Given the description of an element on the screen output the (x, y) to click on. 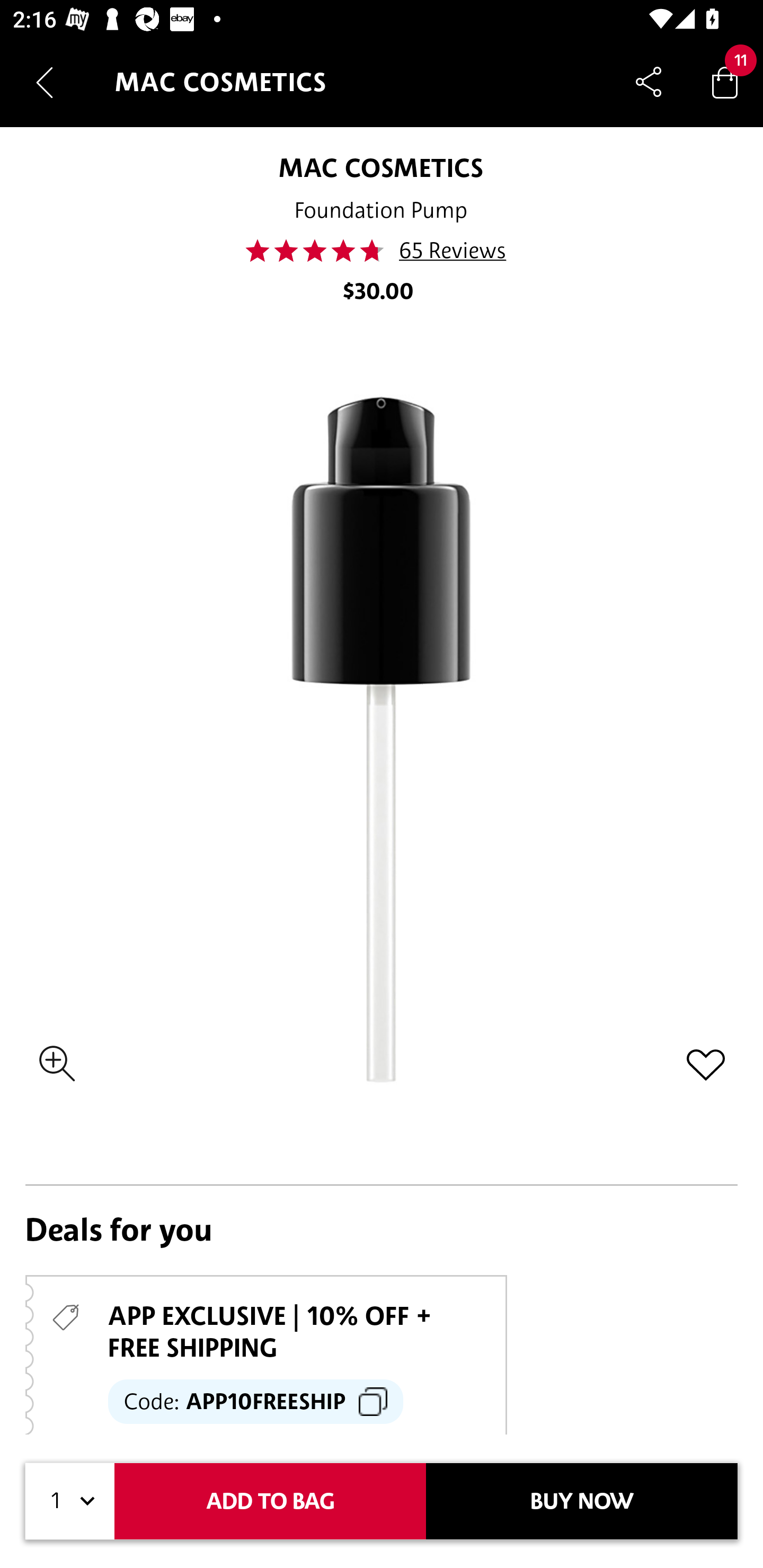
Navigate up (44, 82)
Share (648, 81)
Bag (724, 81)
MAC COSMETICS (380, 167)
47.0 65 Reviews (381, 250)
1 (69, 1500)
ADD TO BAG (269, 1500)
BUY NOW (581, 1500)
